Given the description of an element on the screen output the (x, y) to click on. 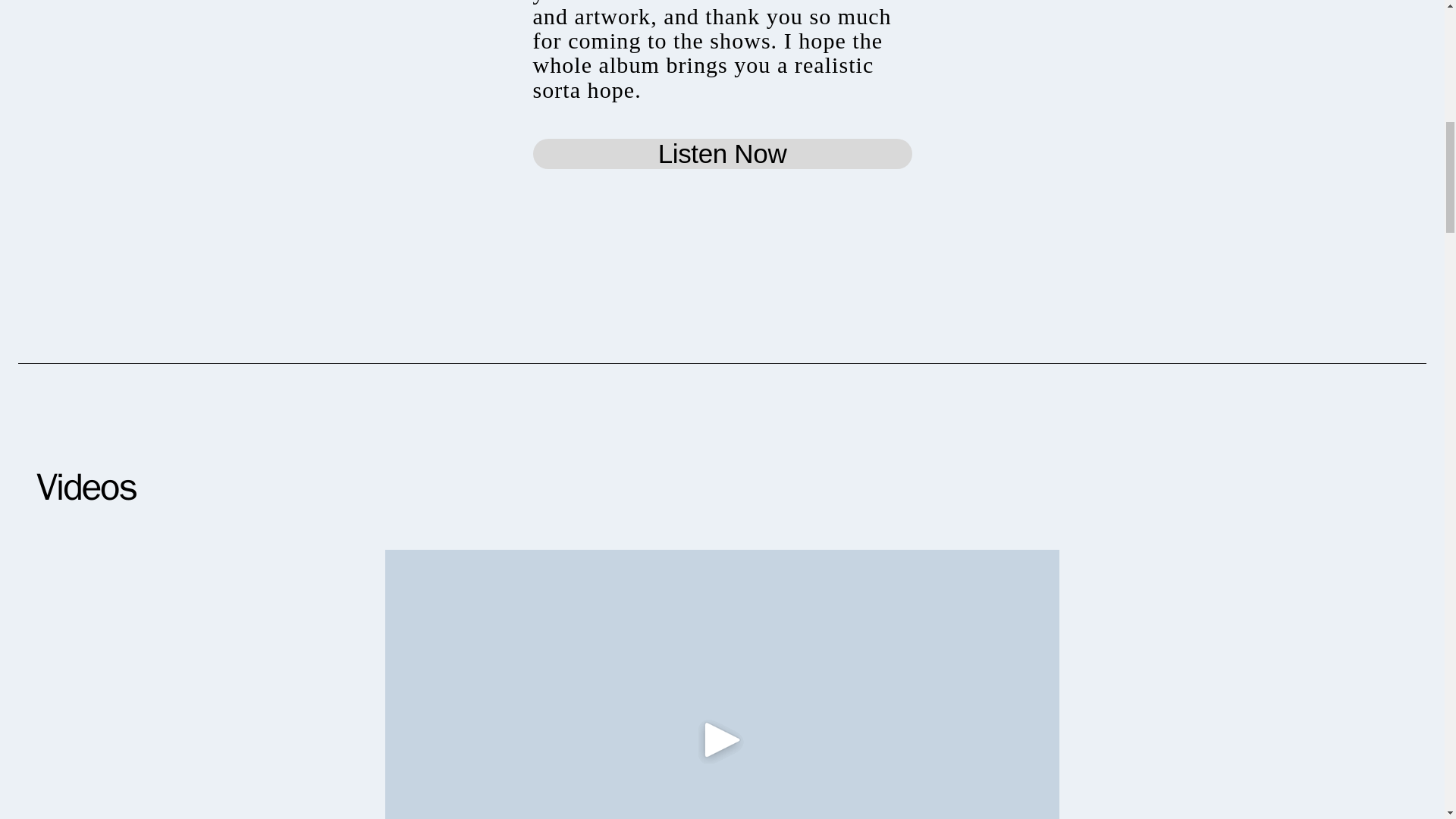
Listen Now (721, 153)
